Given the description of an element on the screen output the (x, y) to click on. 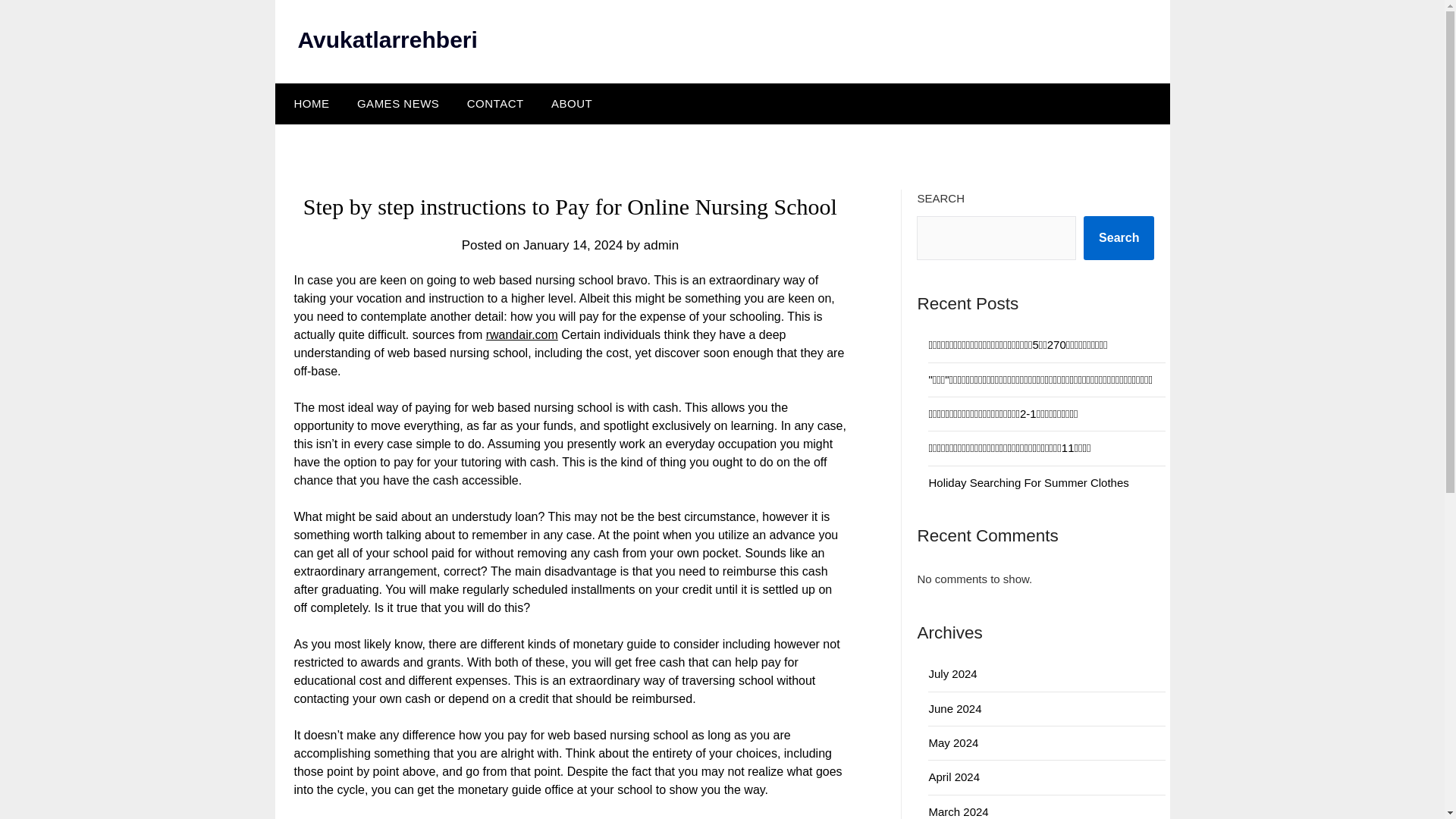
January 14, 2024 (572, 245)
April 2024 (953, 776)
GAMES NEWS (398, 103)
HOME (307, 103)
Avukatlarrehberi (387, 39)
Search (1118, 238)
ABOUT (571, 103)
CONTACT (494, 103)
July 2024 (952, 673)
May 2024 (953, 742)
June 2024 (954, 707)
rwandair.com (521, 334)
admin (660, 245)
Holiday Searching For Summer Clothes (1028, 481)
March 2024 (958, 811)
